Given the description of an element on the screen output the (x, y) to click on. 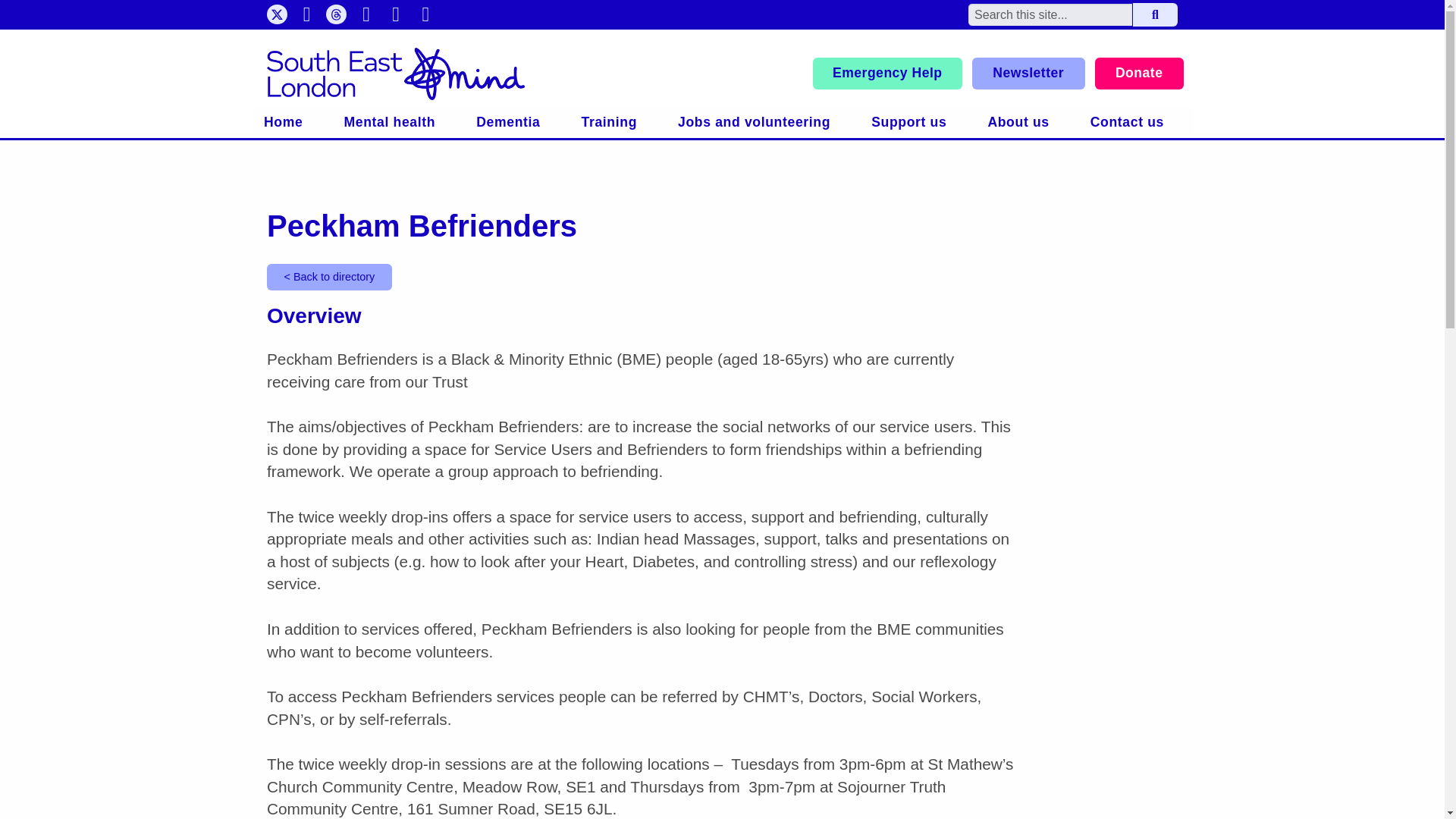
South East London Mind (395, 73)
Search for: (1050, 14)
